Given the description of an element on the screen output the (x, y) to click on. 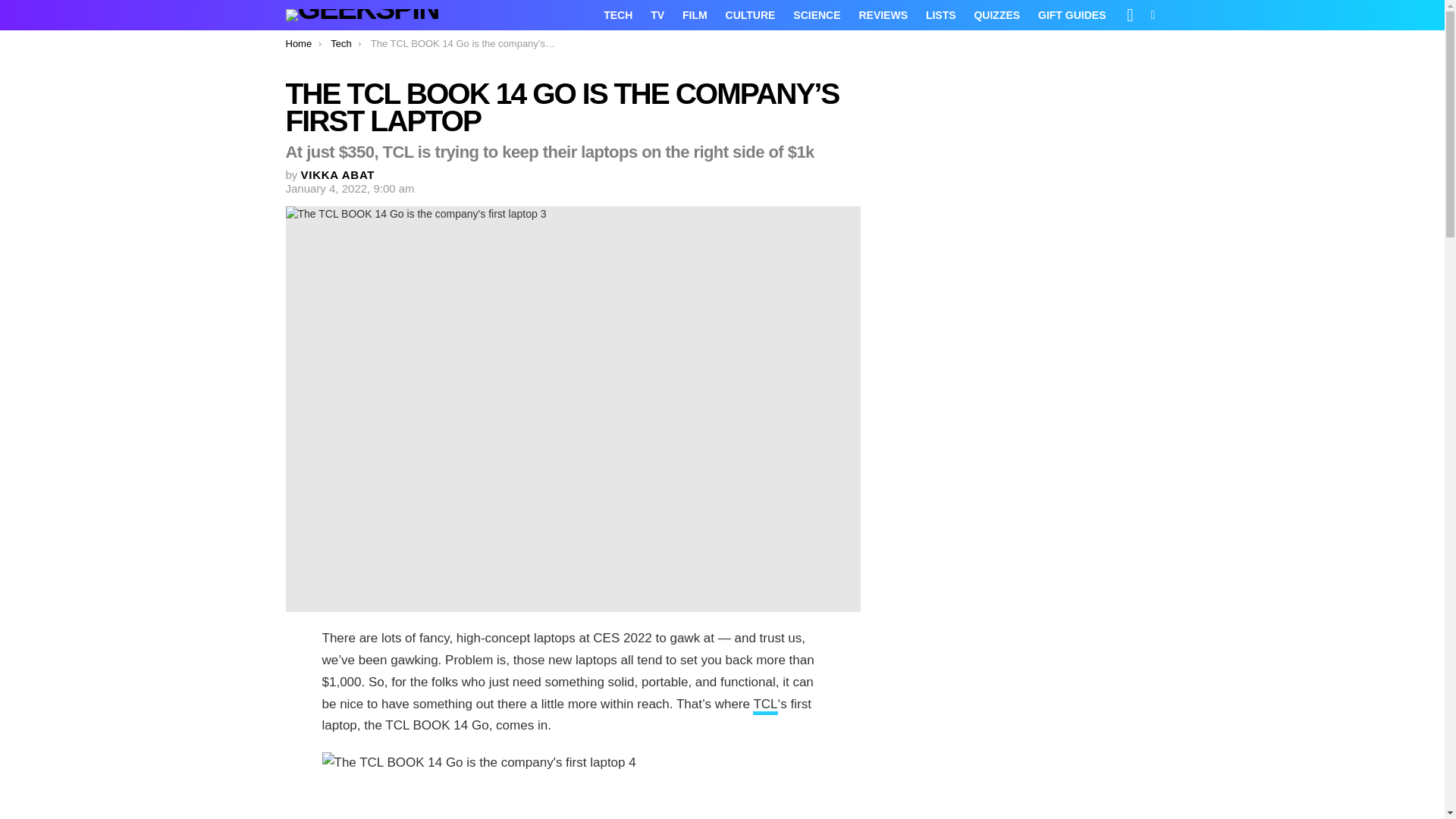
LISTS (940, 15)
VIKKA ABAT (338, 174)
Tech (340, 43)
The TCL BOOK 14 Go is the company's first laptop 4 (572, 785)
FILM (694, 15)
SCIENCE (816, 15)
REVIEWS (882, 15)
QUIZZES (996, 15)
TCL (764, 705)
